Given the description of an element on the screen output the (x, y) to click on. 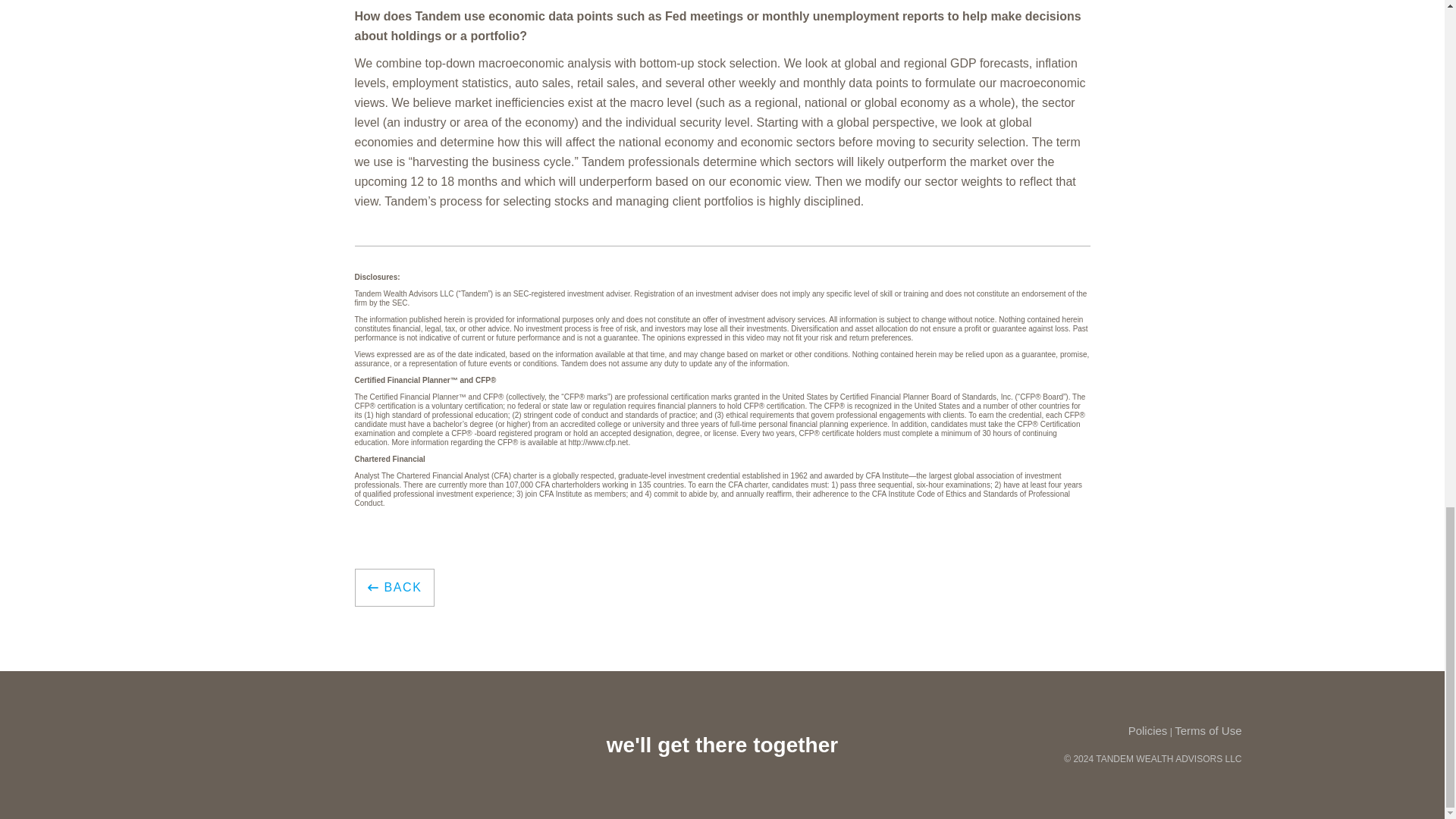
Terms of Use (1207, 730)
Policies (1147, 730)
BACK (395, 587)
